Given the description of an element on the screen output the (x, y) to click on. 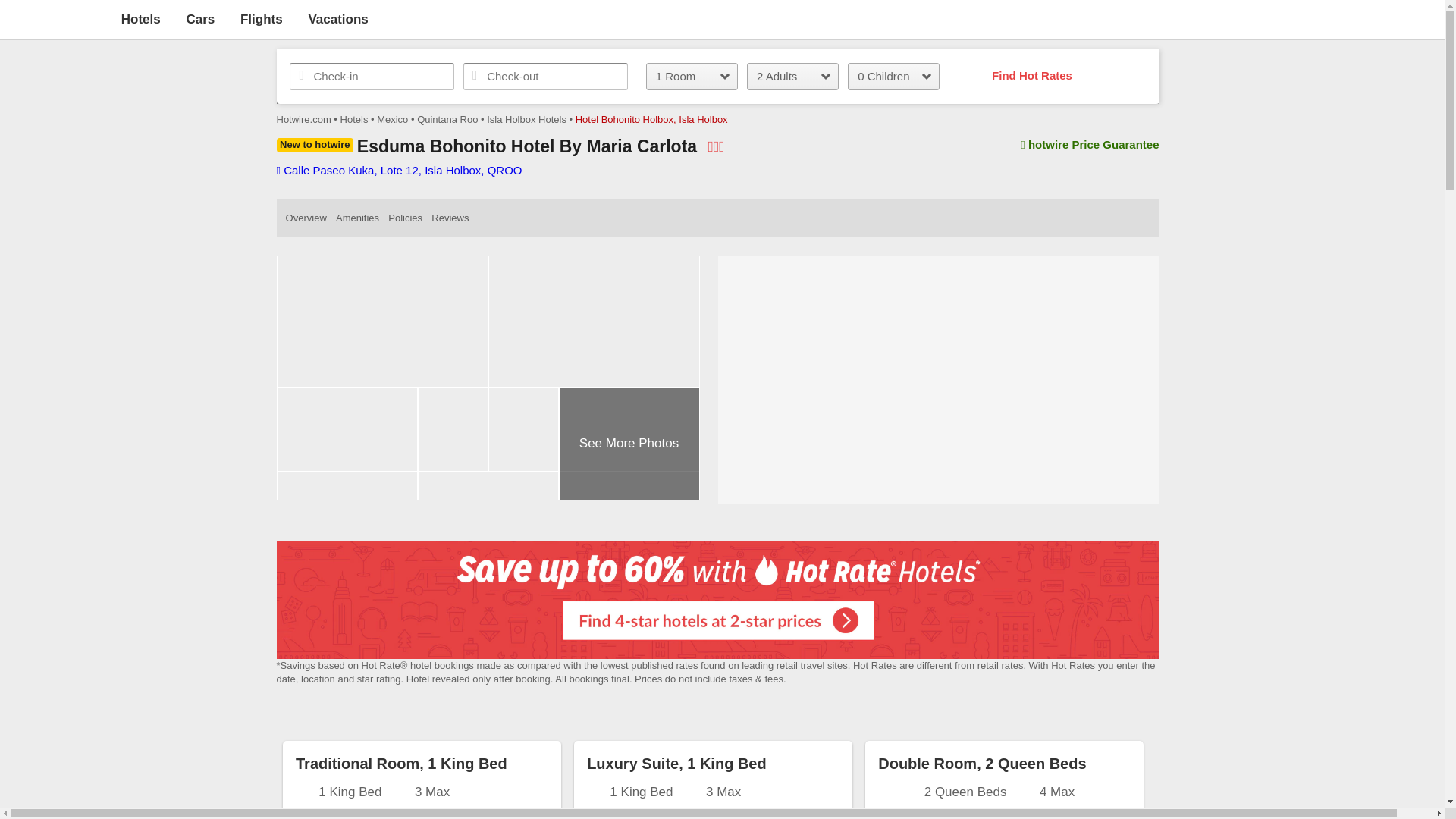
Cars (200, 19)
Flights (261, 19)
Hotwire (56, 18)
Vacations (337, 19)
Hotels (140, 19)
